Given the description of an element on the screen output the (x, y) to click on. 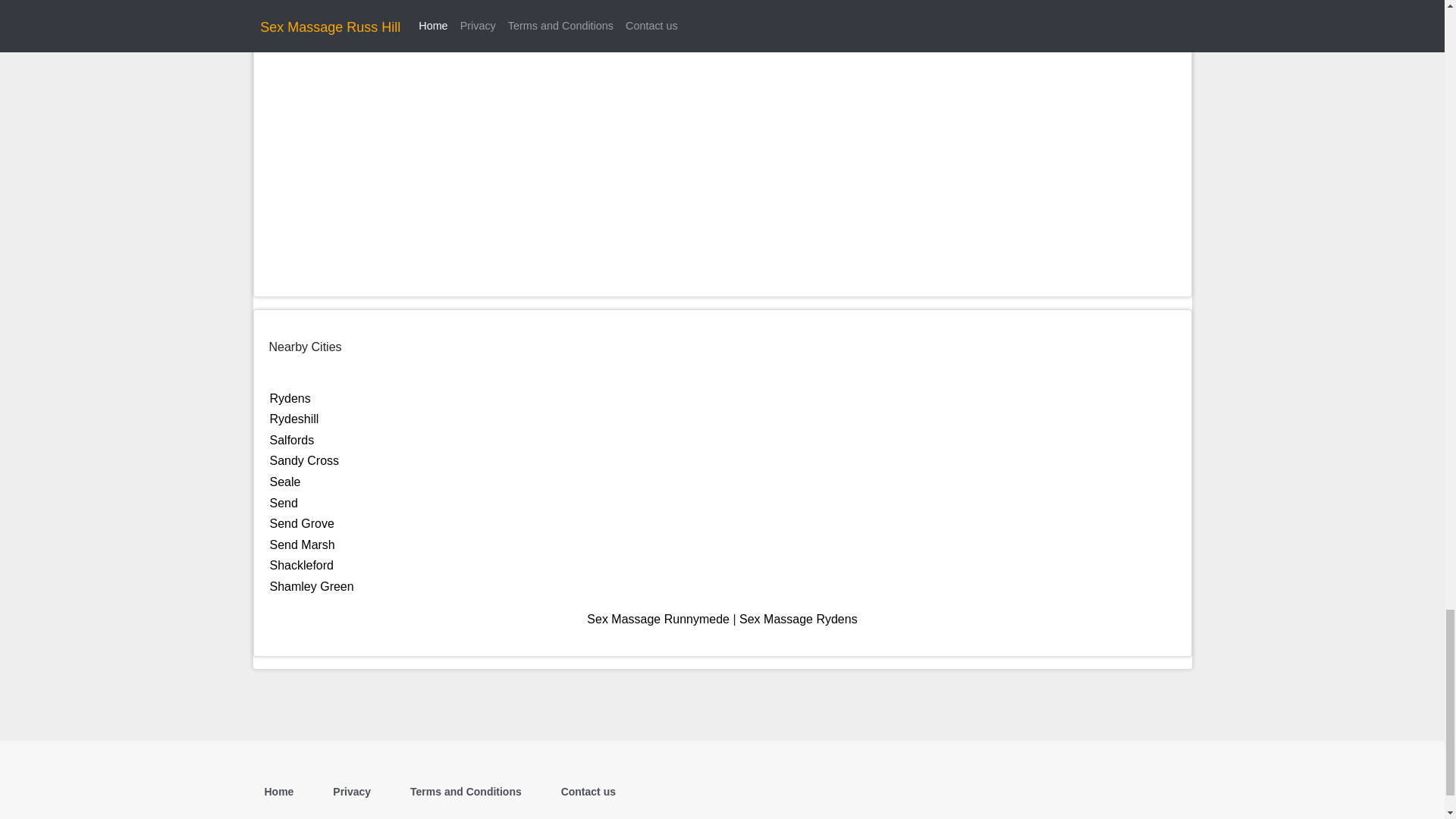
Send Marsh (301, 544)
Send Grove (301, 522)
Rydens (290, 398)
Sandy Cross (304, 460)
Shamley Green (311, 585)
Salfords (291, 440)
Shackleford (301, 564)
Sex Massage Rydens (798, 618)
Sex Massage Runnymede (657, 618)
Seale (285, 481)
